Given the description of an element on the screen output the (x, y) to click on. 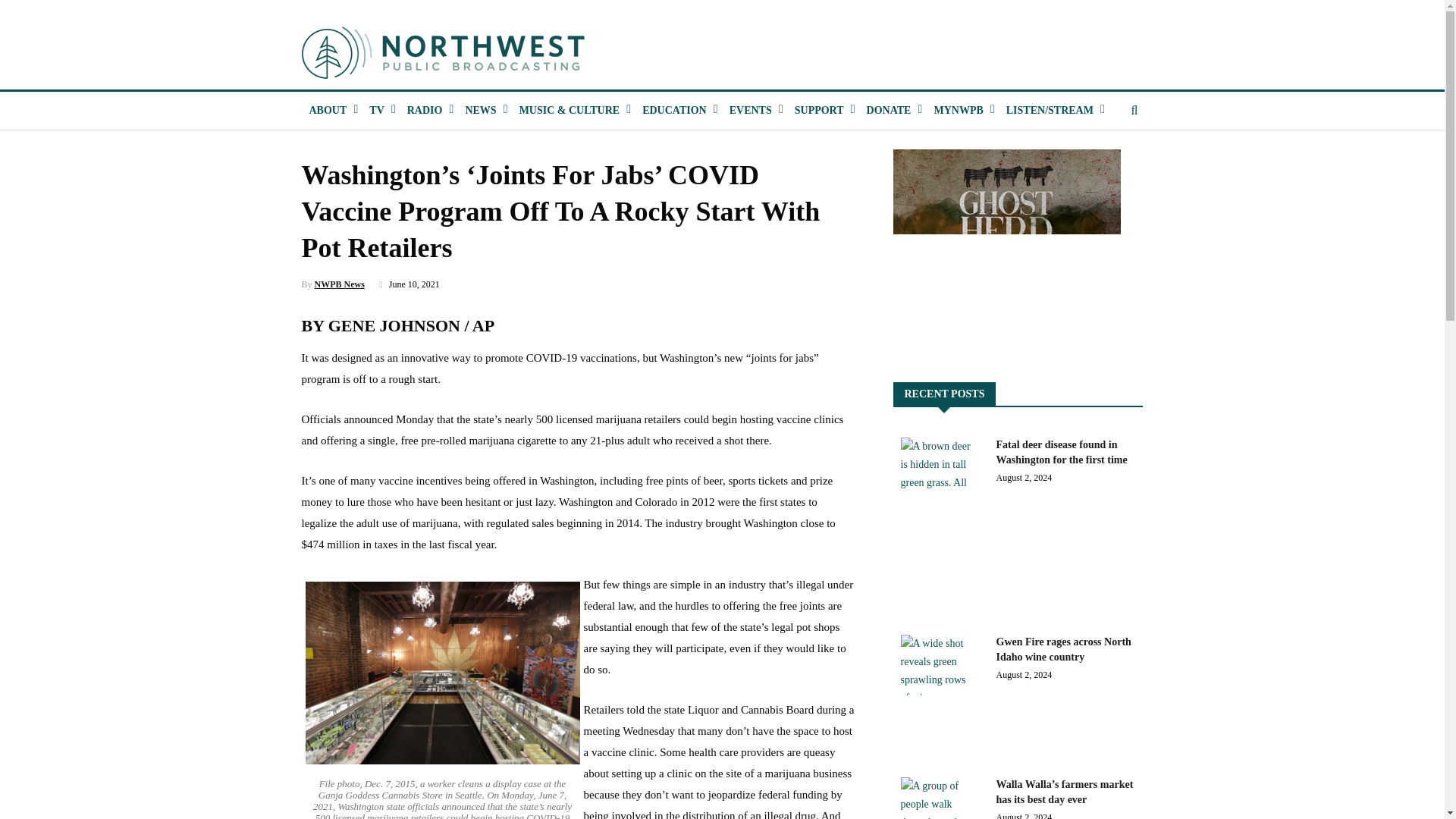
ABOUT (327, 110)
Donate Button (889, 110)
logo (443, 52)
RADIO (425, 110)
TV (376, 110)
NEWS (479, 110)
